Given the description of an element on the screen output the (x, y) to click on. 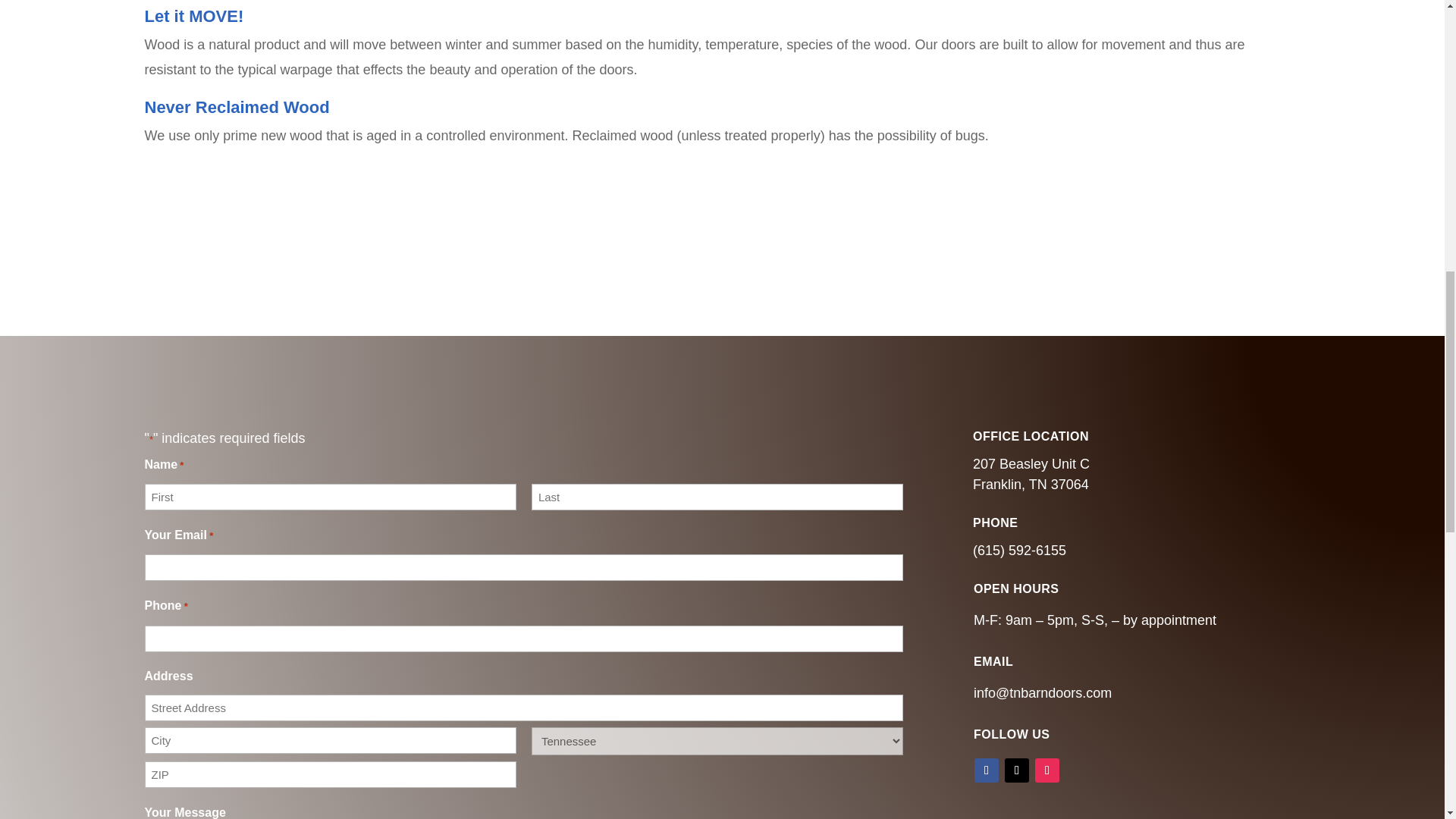
Follow on Facebook (986, 770)
Follow on X (1016, 770)
Follow on Instagram (1047, 770)
